Given the description of an element on the screen output the (x, y) to click on. 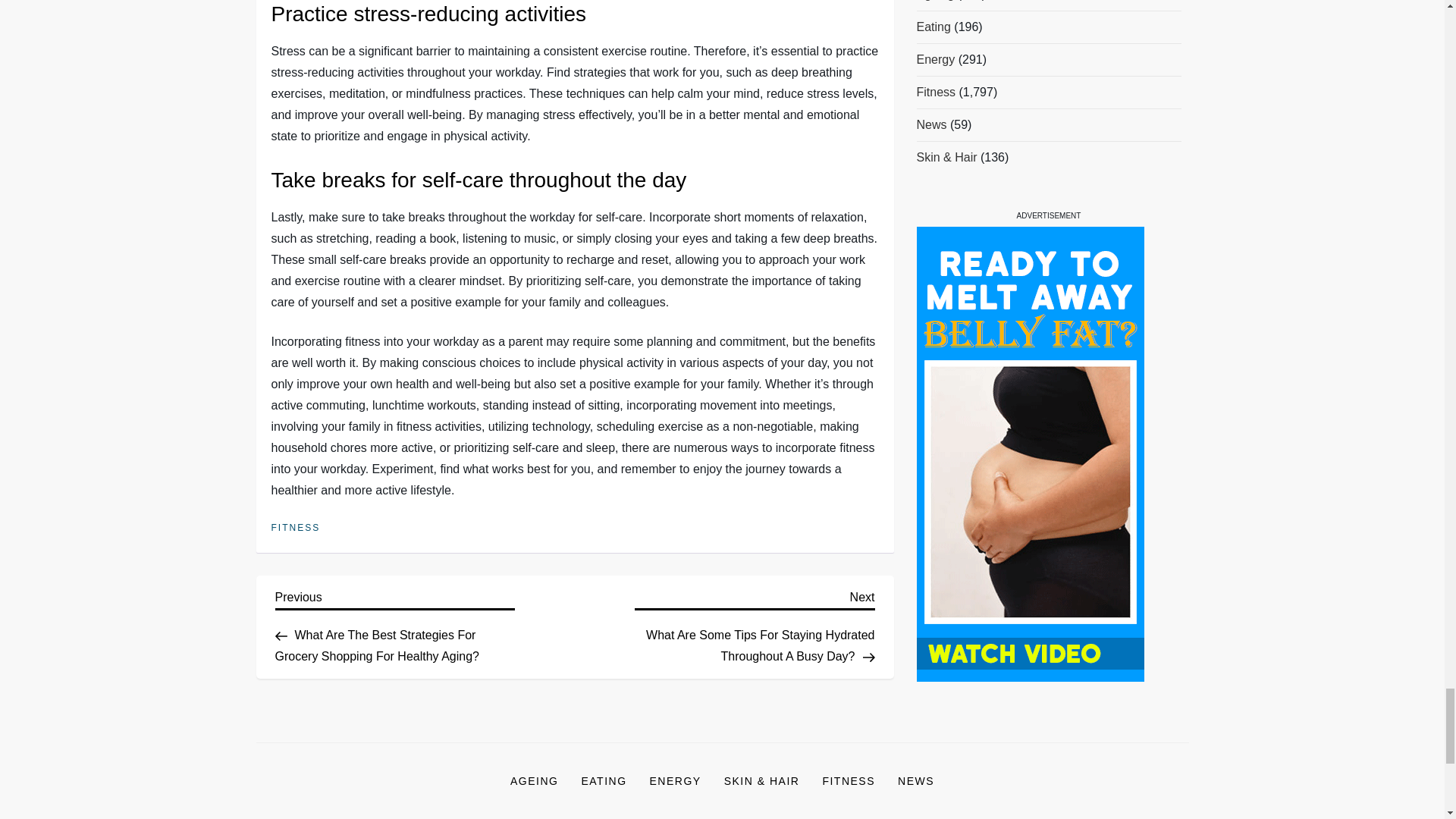
NEWS (915, 780)
FITNESS (295, 528)
EATING (603, 780)
AGEING (534, 780)
ENERGY (676, 780)
FITNESS (848, 780)
